Given the description of an element on the screen output the (x, y) to click on. 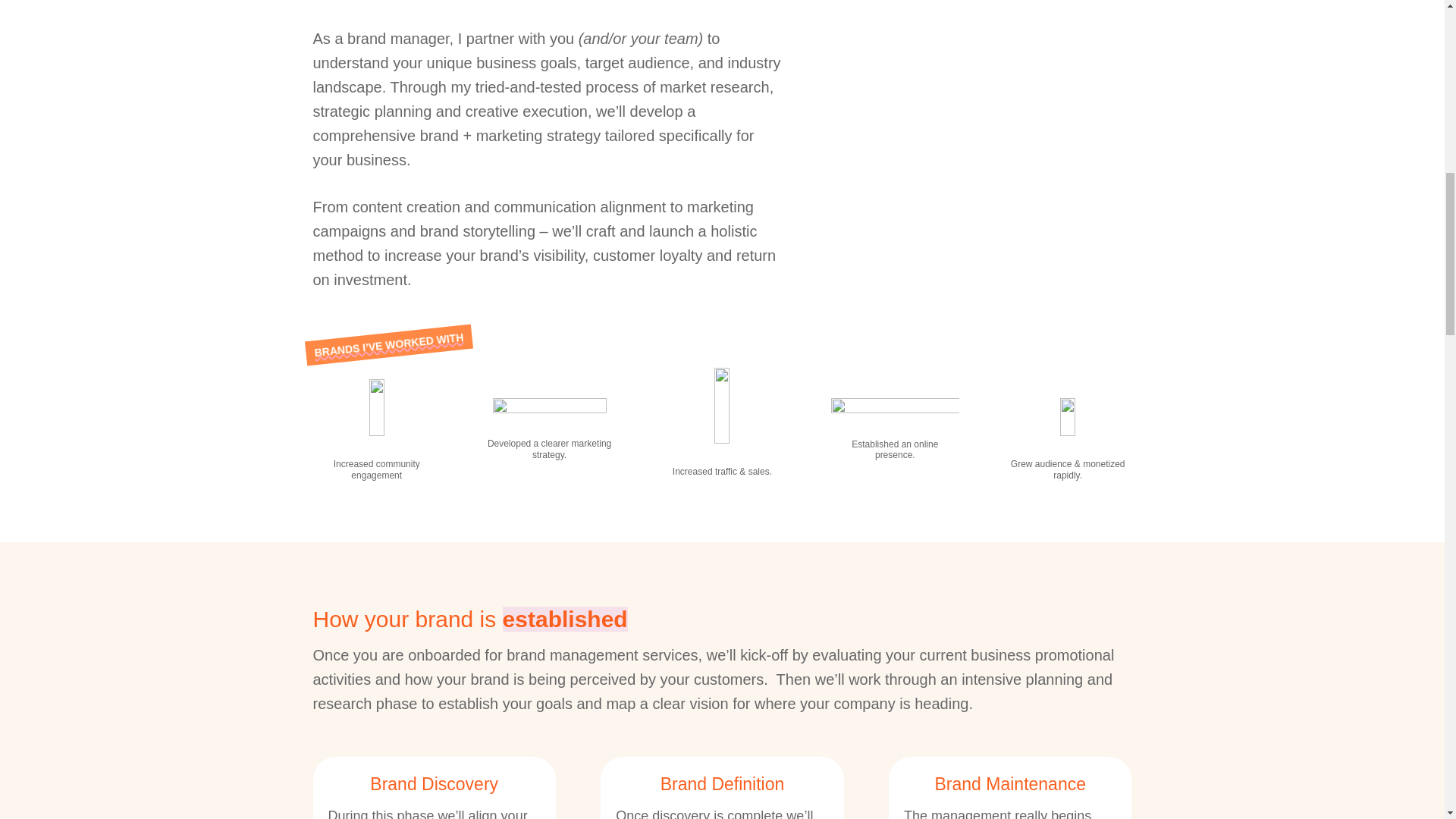
pova2 (1067, 416)
proudlittlemuslims (722, 405)
albassiralogo (894, 407)
techsisters (376, 407)
afterfund (550, 406)
